Given the description of an element on the screen output the (x, y) to click on. 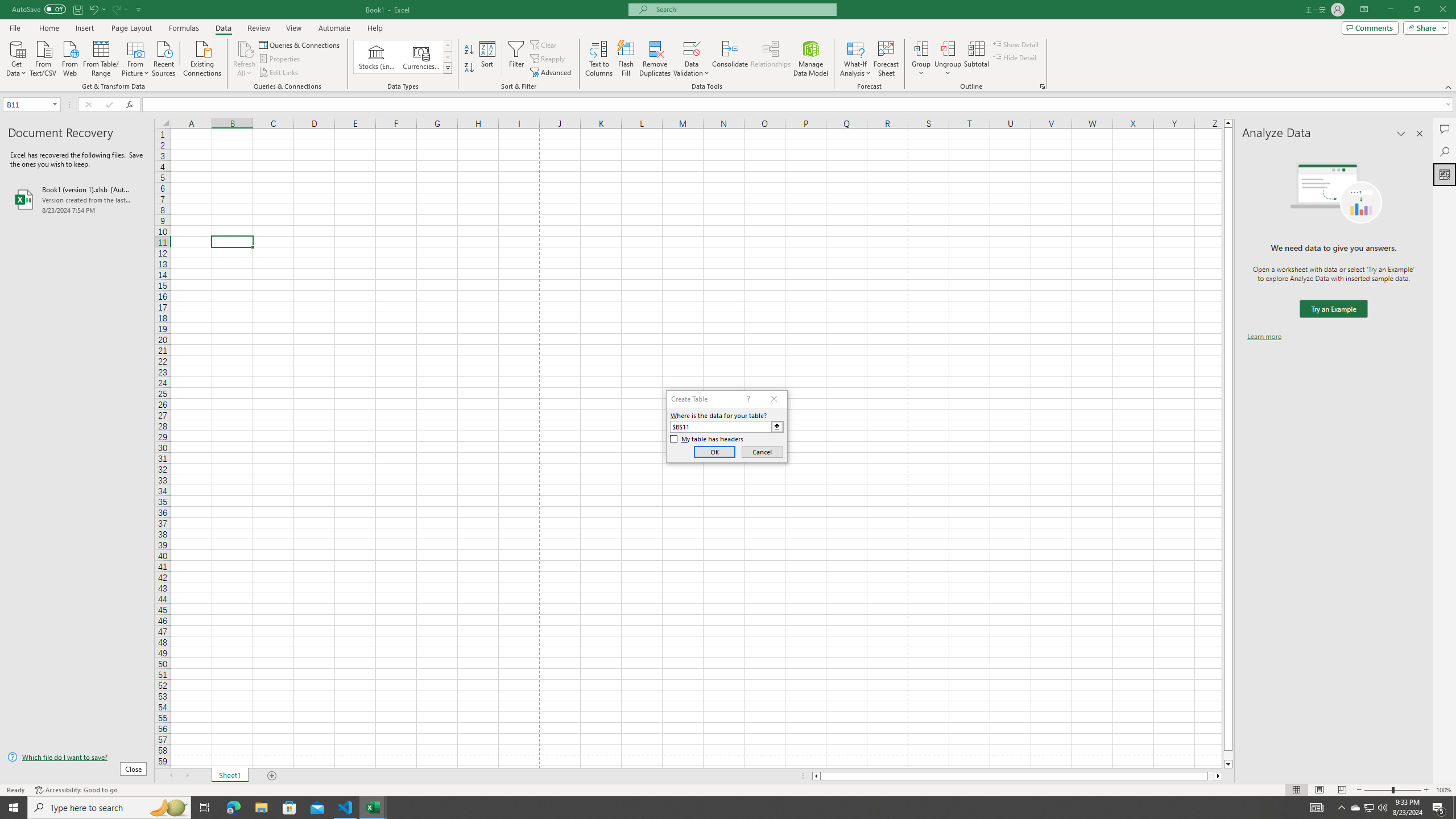
AutomationID: ConvertToLinkedEntity (403, 56)
Sort A to Z (469, 49)
Row Down (448, 56)
Recent Sources (163, 57)
